Given the description of an element on the screen output the (x, y) to click on. 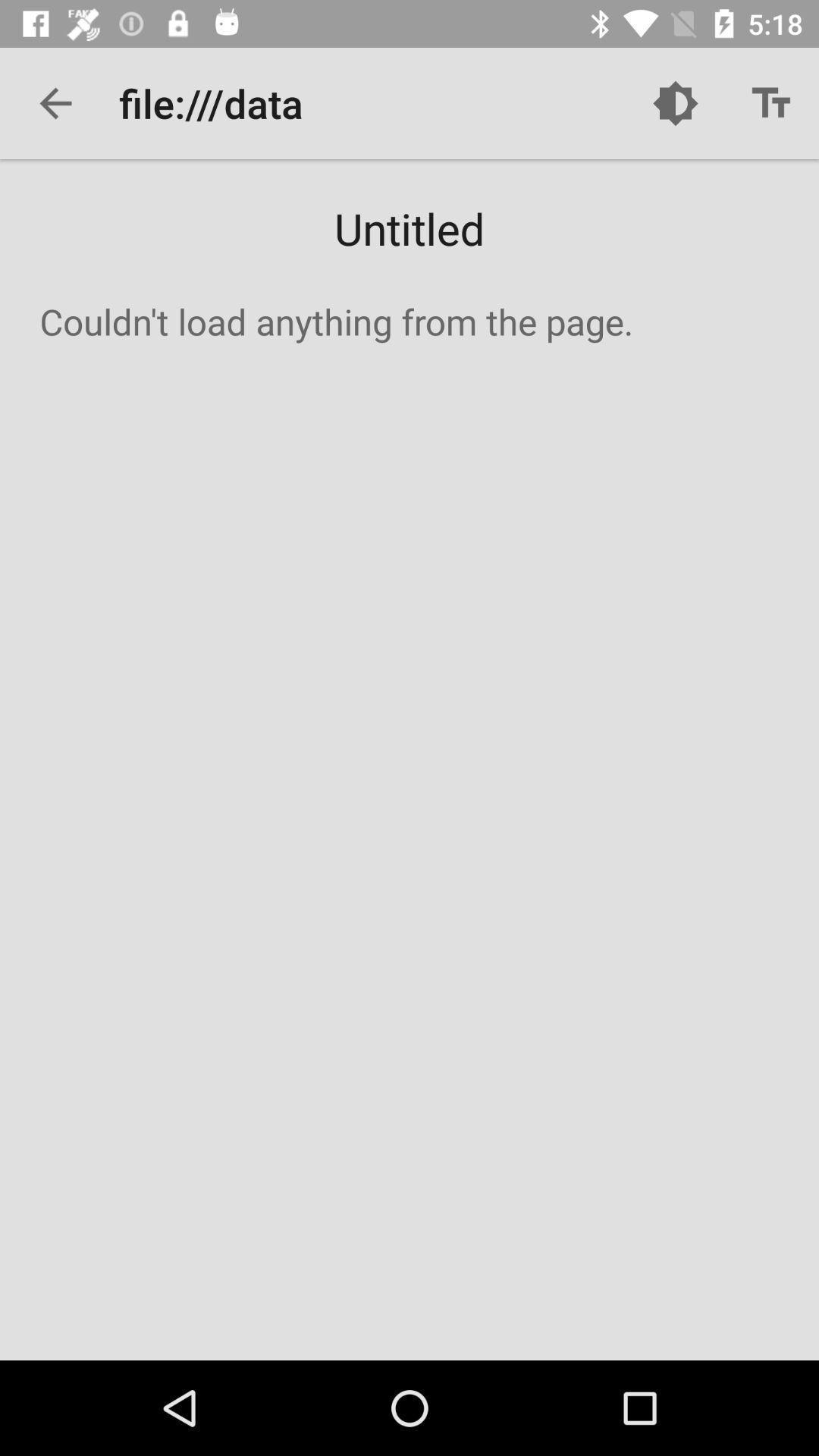
select app next to file:///data app (55, 103)
